Given the description of an element on the screen output the (x, y) to click on. 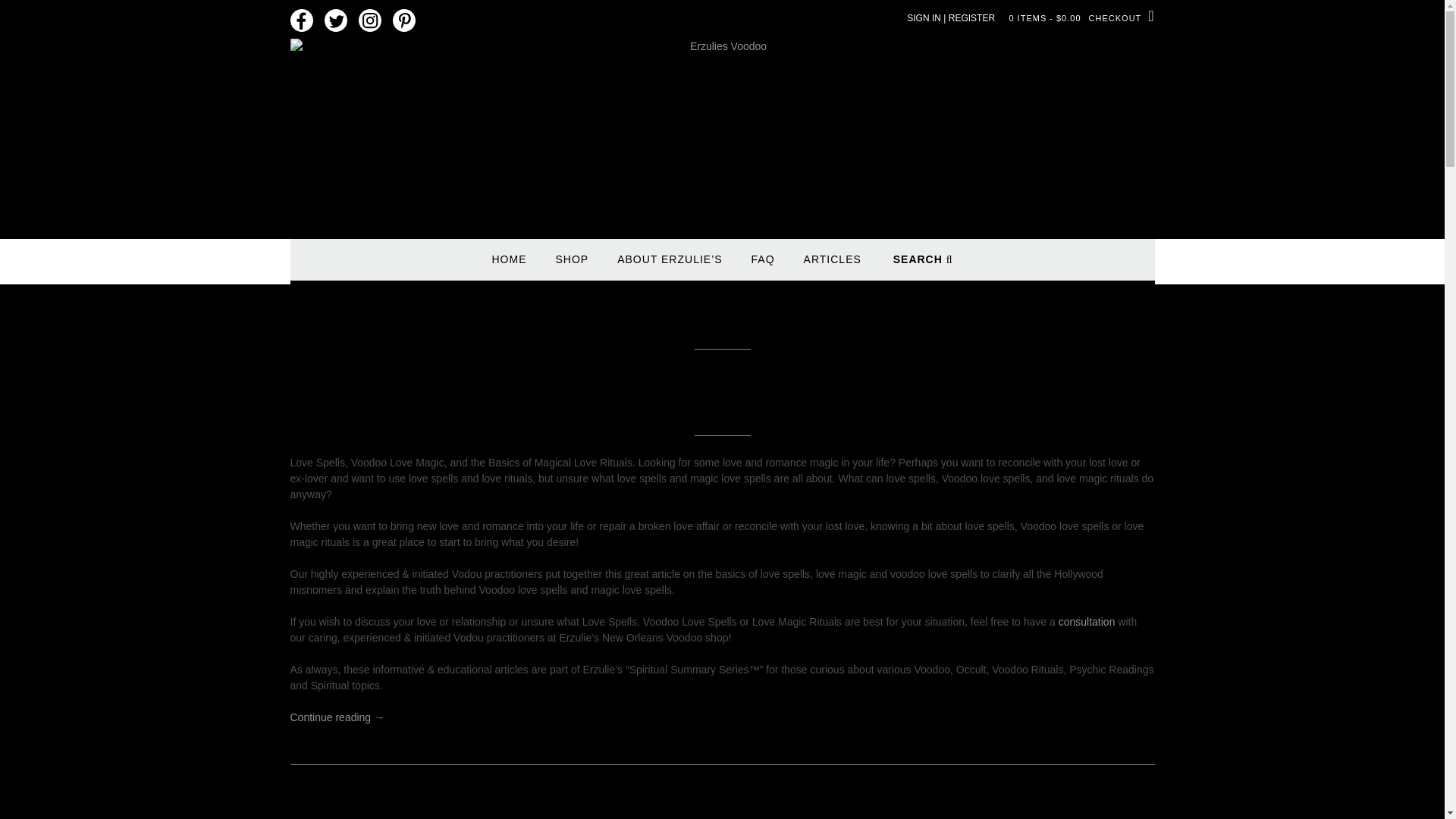
SHOP (571, 266)
Follow us on Twitter (335, 21)
HOME (508, 266)
Pin us on Pinterest (403, 21)
ARTICLES (832, 266)
LOVE SPELLS AND THE BASICS OF VOODOO LOVE MAGIC (482, 380)
Follow us on Instagram (369, 21)
consultation (1086, 621)
Find us on Facebook (301, 21)
SEARCH (923, 266)
